Given the description of an element on the screen output the (x, y) to click on. 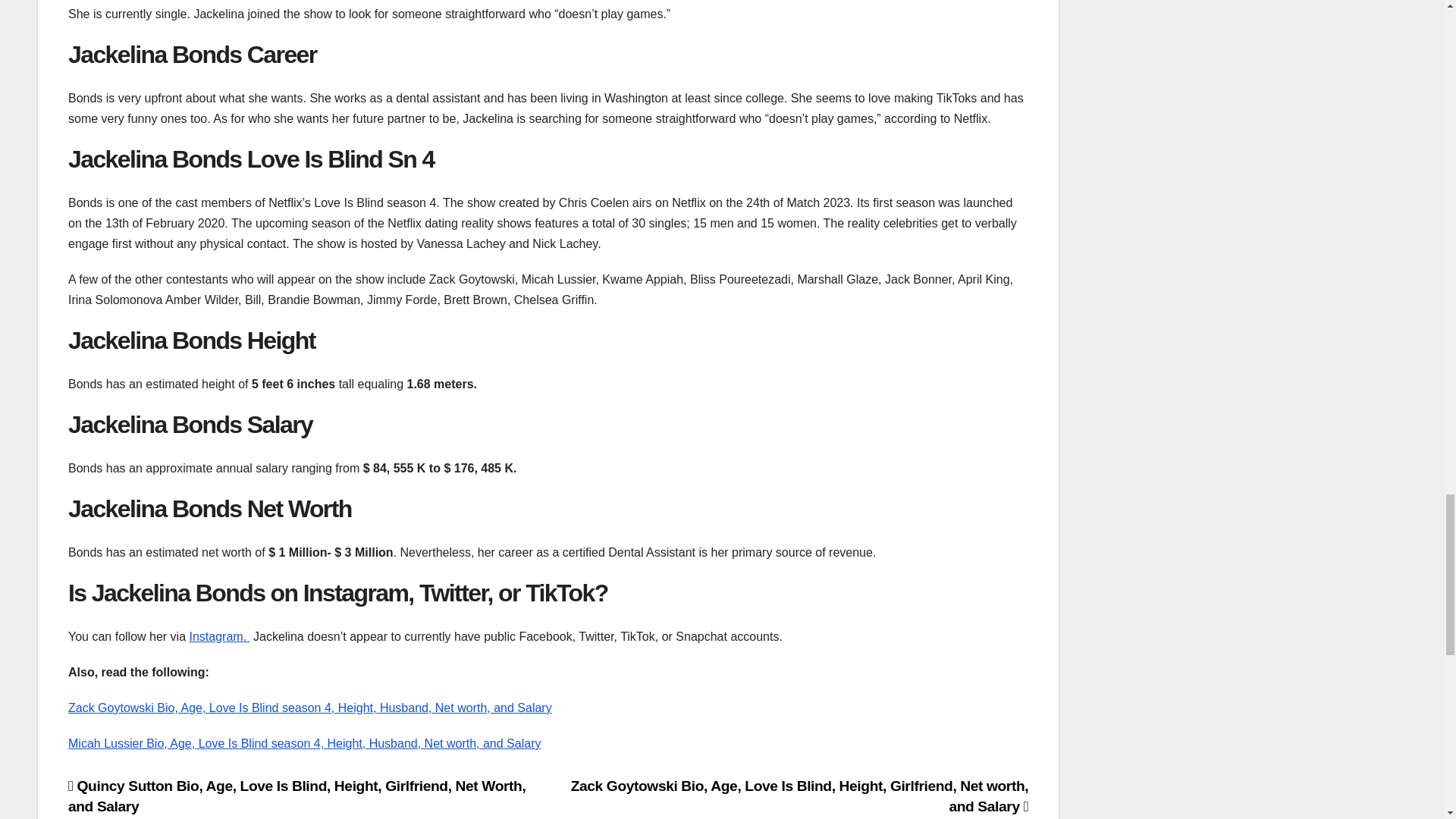
Instagram (216, 635)
